Given the description of an element on the screen output the (x, y) to click on. 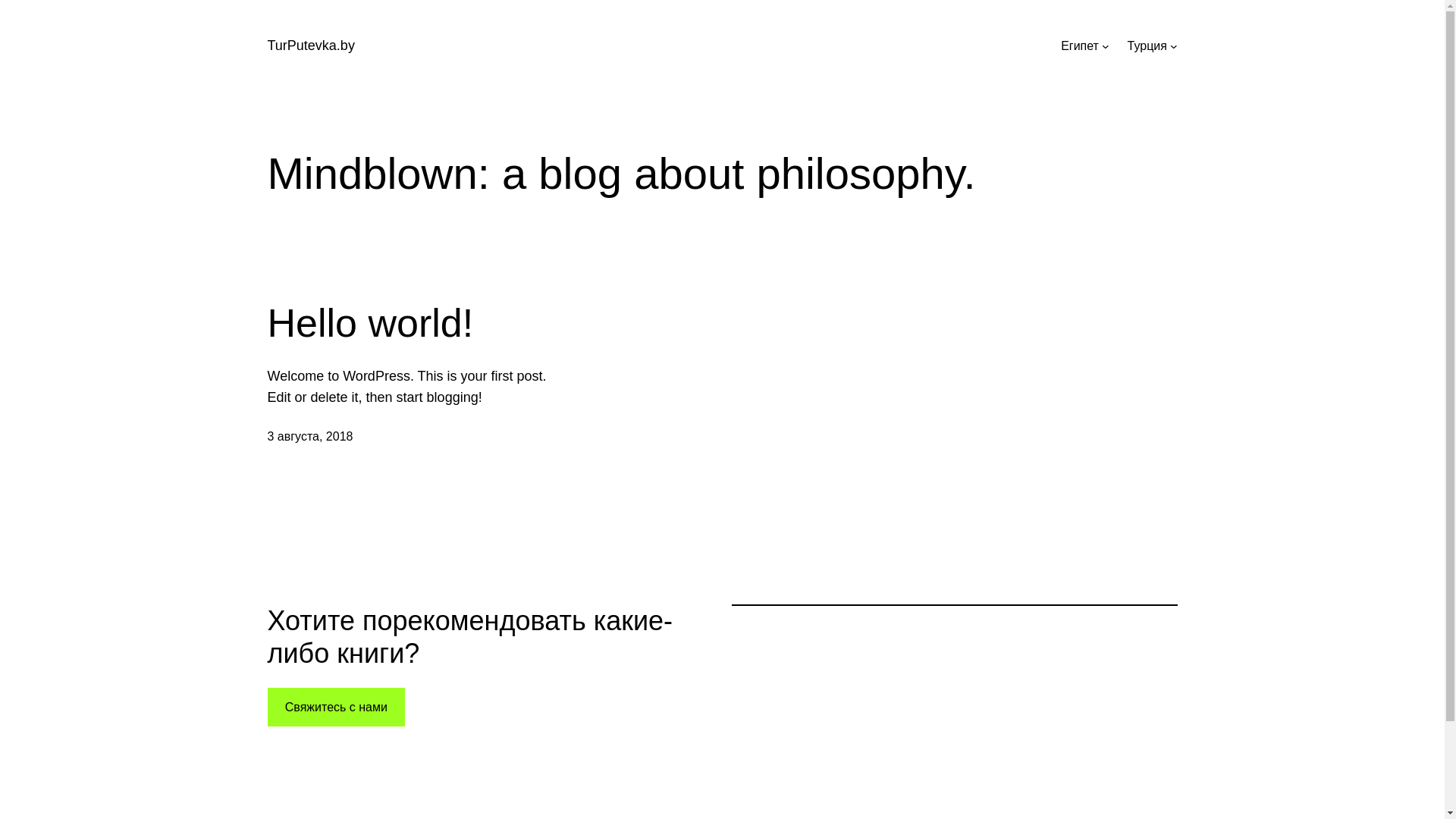
TurPutevka.by Element type: text (310, 45)
Hello world! Element type: text (369, 322)
